Given the description of an element on the screen output the (x, y) to click on. 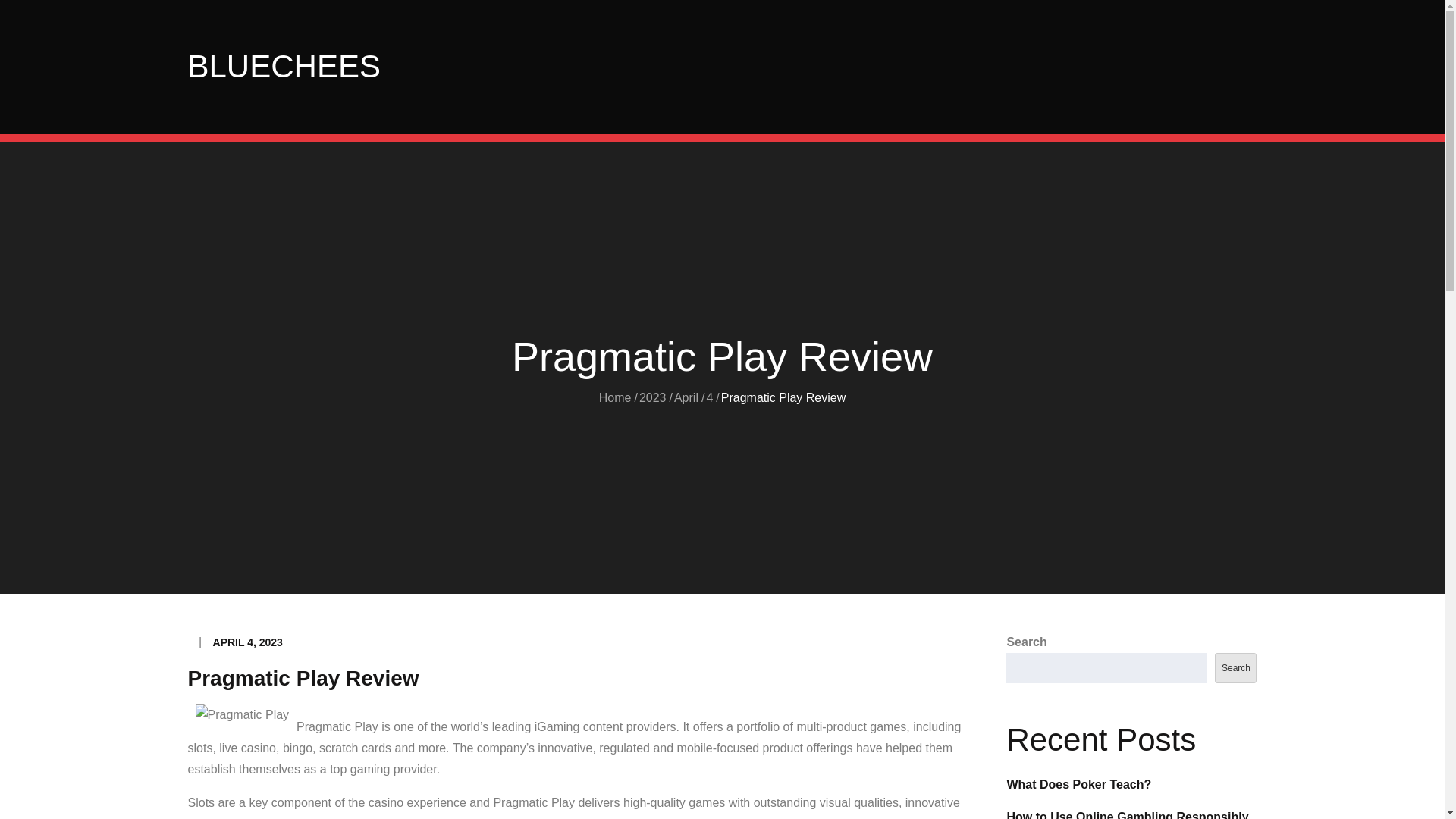
2023 (652, 397)
Search (1235, 667)
How to Use Online Gambling Responsibly (1126, 814)
April (686, 397)
What Does Poker Teach? (1078, 784)
Home (614, 397)
APRIL 4, 2023 (247, 642)
BLUECHEES (283, 66)
